Given the description of an element on the screen output the (x, y) to click on. 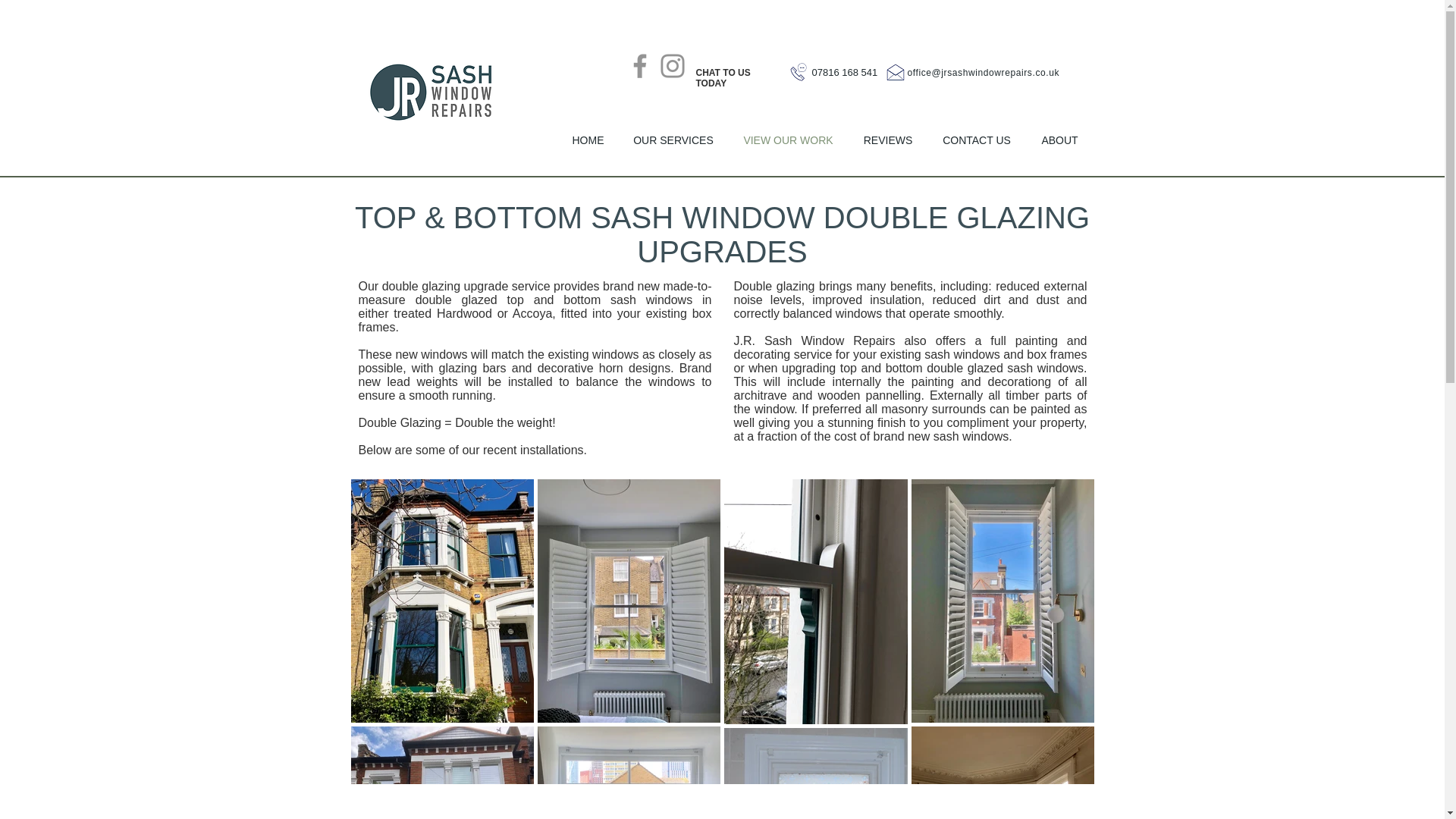
OUR SERVICES (672, 140)
VIEW OUR WORK (788, 140)
ABOUT (1059, 140)
CONTACT US (976, 140)
REVIEWS (887, 140)
07816 168 541 (843, 71)
HOME (587, 140)
